Given the description of an element on the screen output the (x, y) to click on. 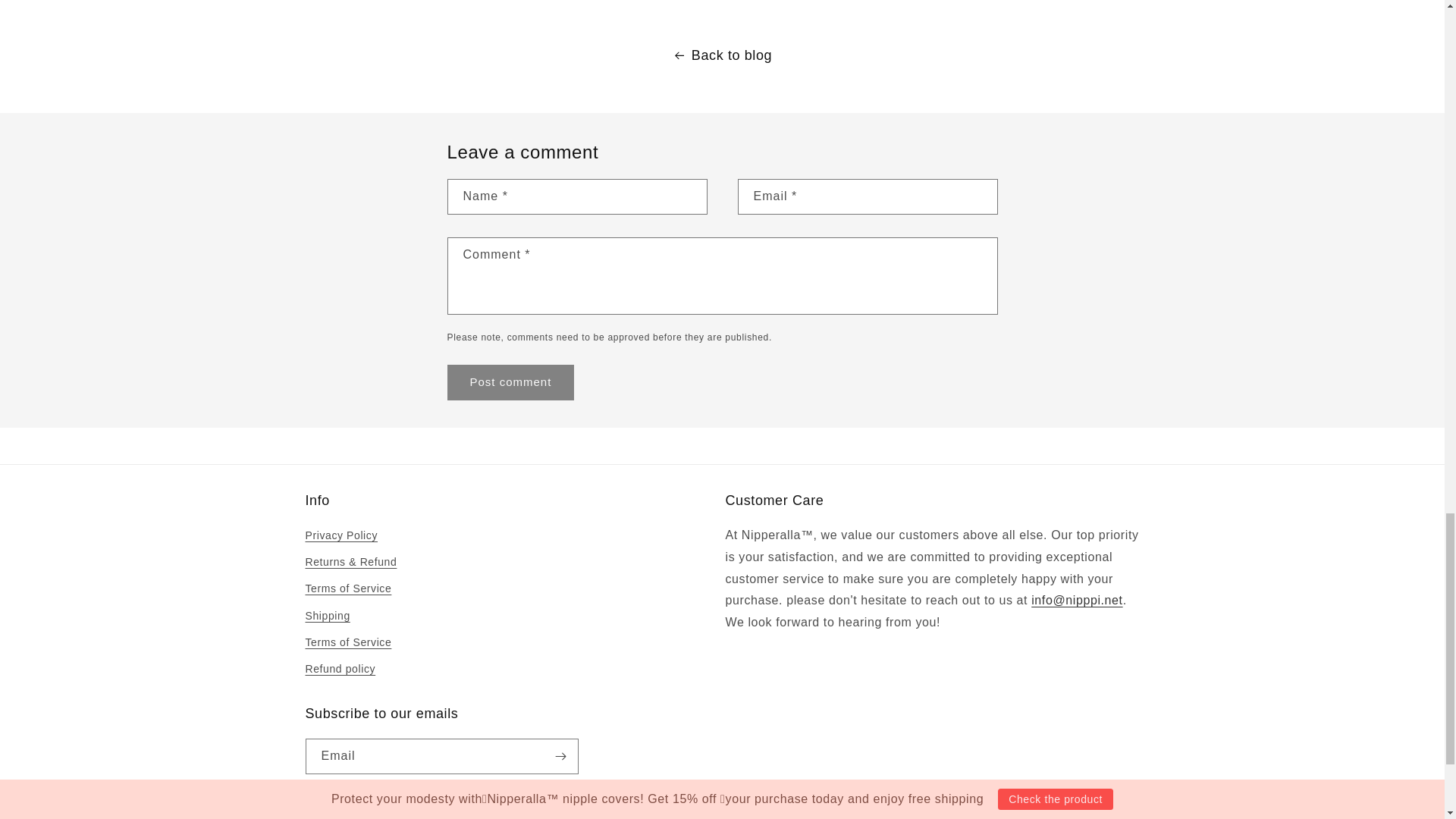
Refund policy (339, 669)
Post comment (510, 382)
Privacy Policy (340, 537)
Post comment (510, 382)
Terms of Service (347, 642)
Shipping (326, 615)
Terms of Service (347, 588)
